Given the description of an element on the screen output the (x, y) to click on. 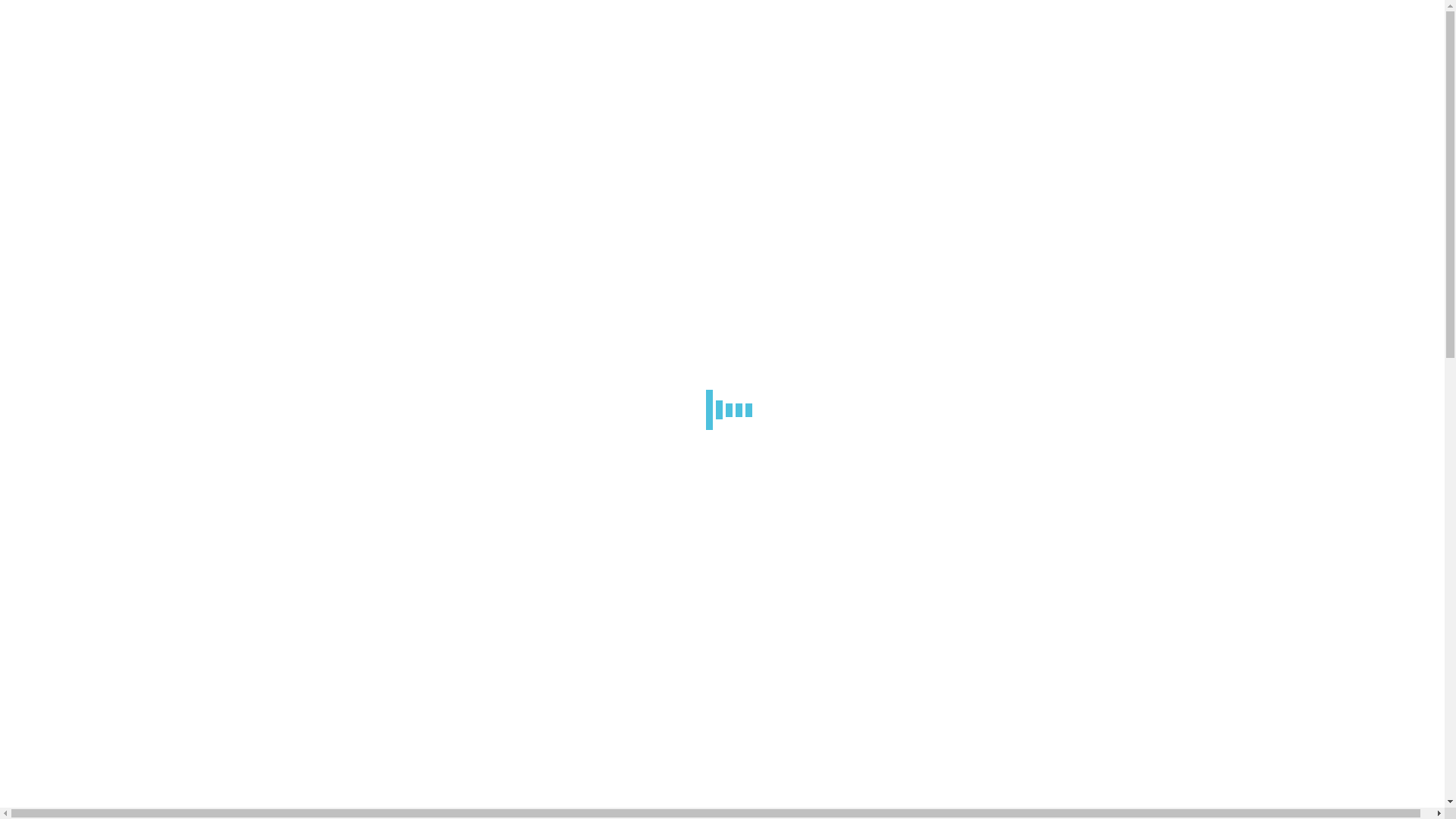
Datenschutz Element type: text (1089, 256)
Urheberrecht Element type: text (1089, 222)
Google Analytics Element type: text (1089, 325)
Verwendung von Cookies Element type: text (1089, 290)
Zum Inhalt springen Element type: text (5, 5)
